Given the description of an element on the screen output the (x, y) to click on. 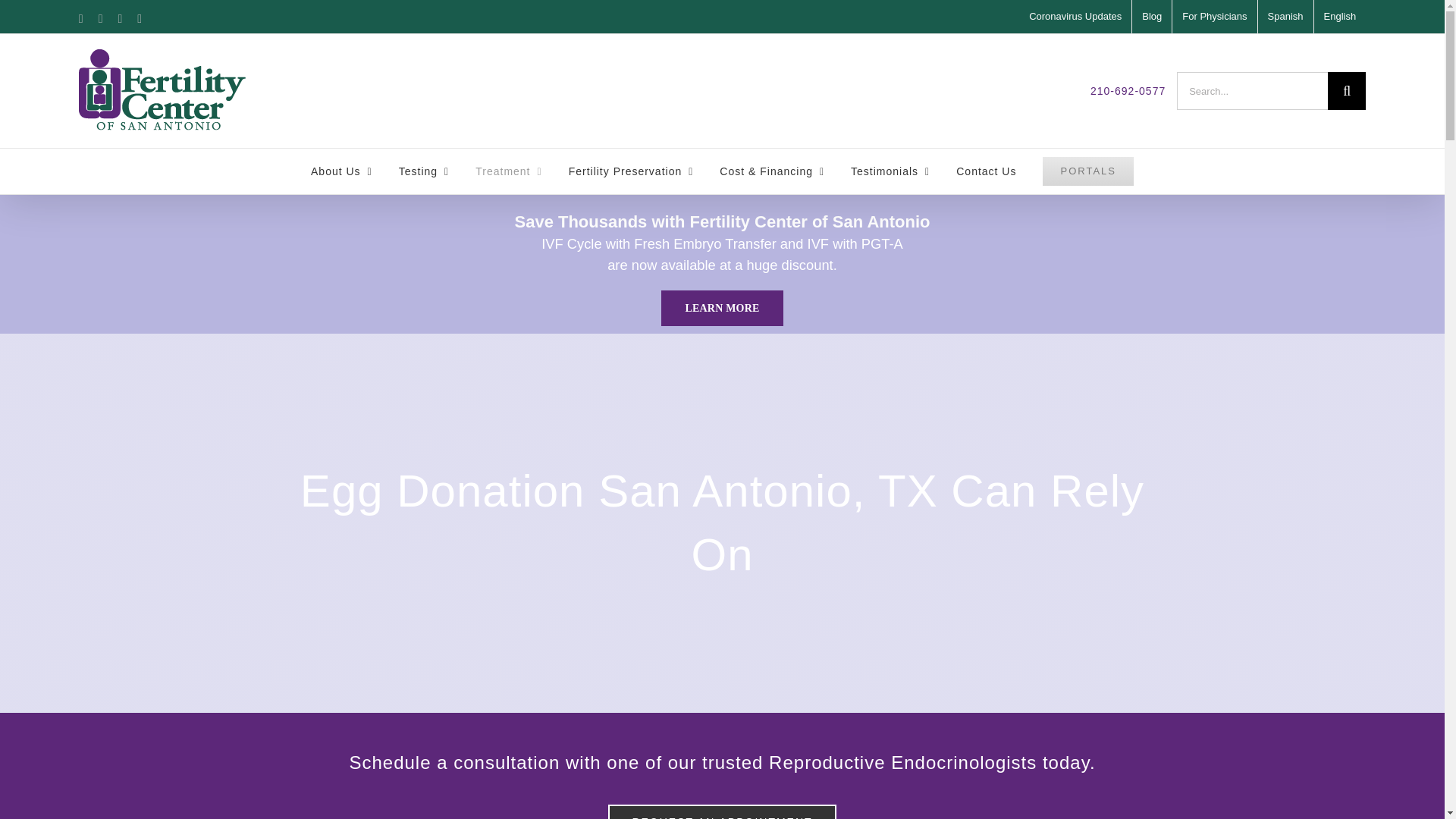
Coronavirus Updates (1075, 16)
Testing (423, 171)
210-692-0577 (1128, 91)
For Physicians (1214, 16)
Spanish (1285, 16)
Blog (1152, 16)
English (1340, 16)
About Us (341, 171)
